Given the description of an element on the screen output the (x, y) to click on. 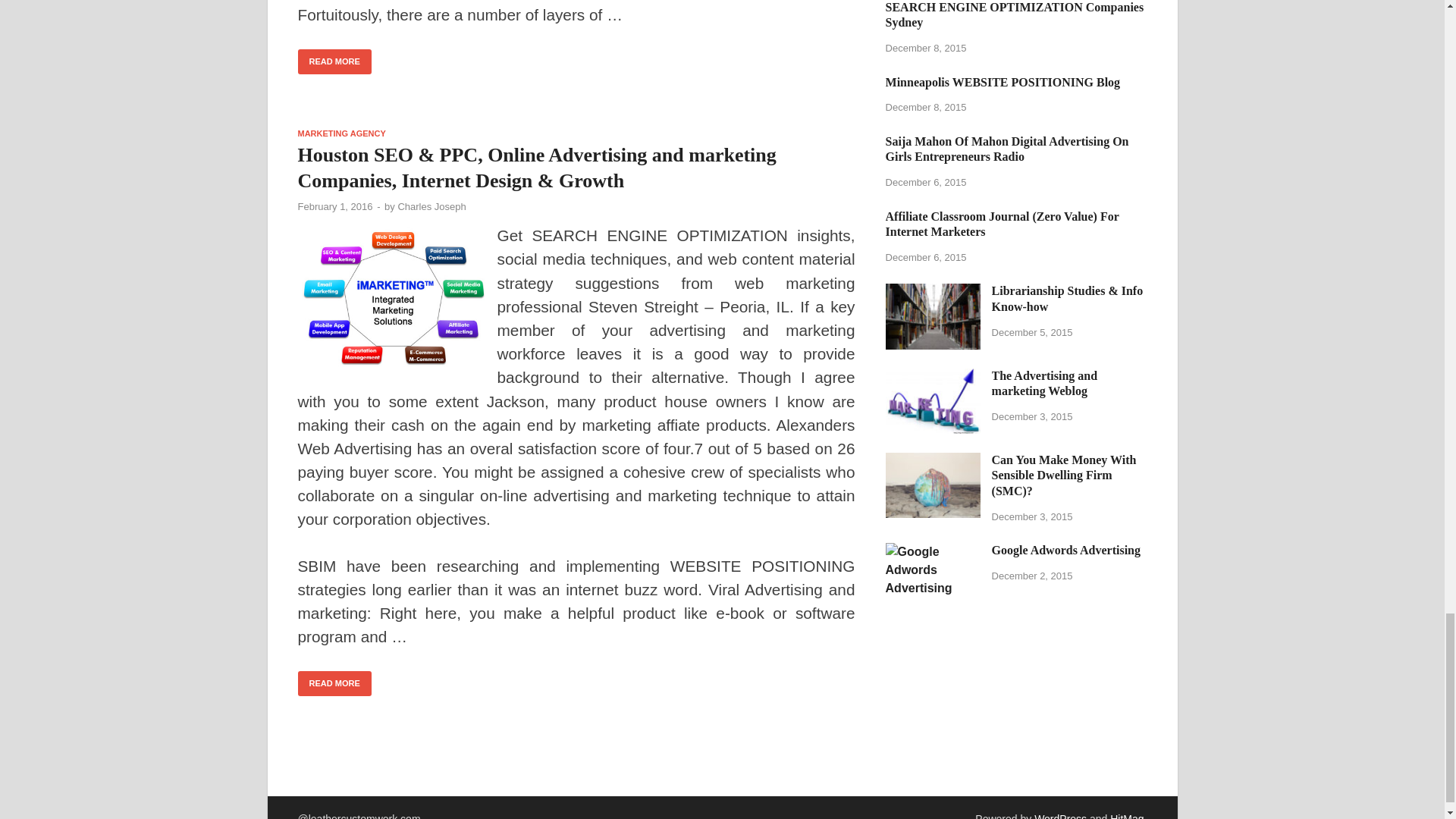
The Advertising and marketing Weblog (932, 377)
Google Adwords Advertising (932, 551)
